Given the description of an element on the screen output the (x, y) to click on. 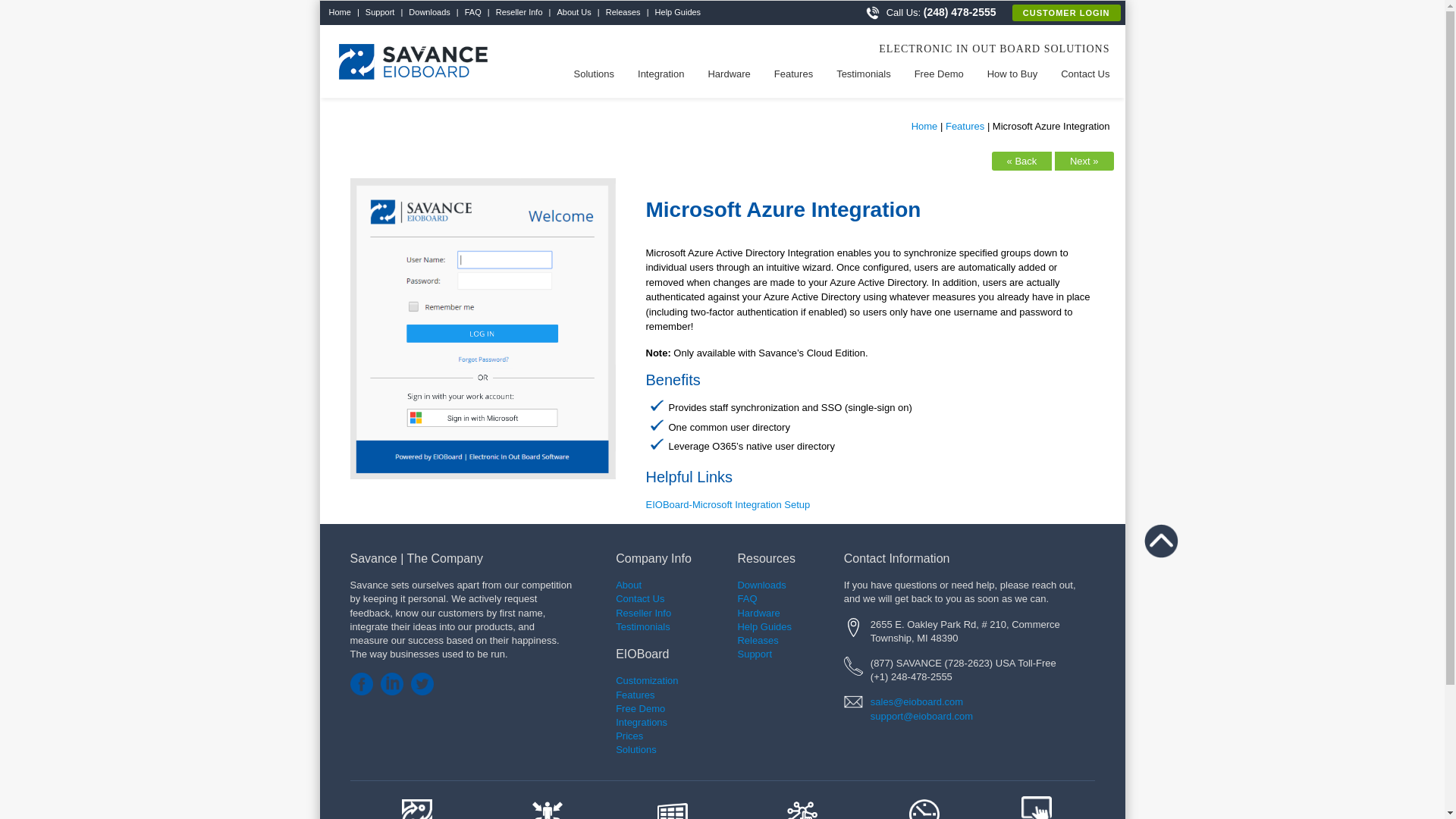
Downloads (428, 11)
Features (793, 73)
Help Guides (677, 11)
Integration (659, 73)
About (628, 584)
Support (379, 11)
Prices (629, 736)
Reseller Info (519, 11)
Features (646, 701)
Free Demo (640, 715)
Home (342, 11)
Reseller Info (643, 613)
Customization (646, 680)
How to Buy (1011, 73)
FAQ (472, 11)
